Given the description of an element on the screen output the (x, y) to click on. 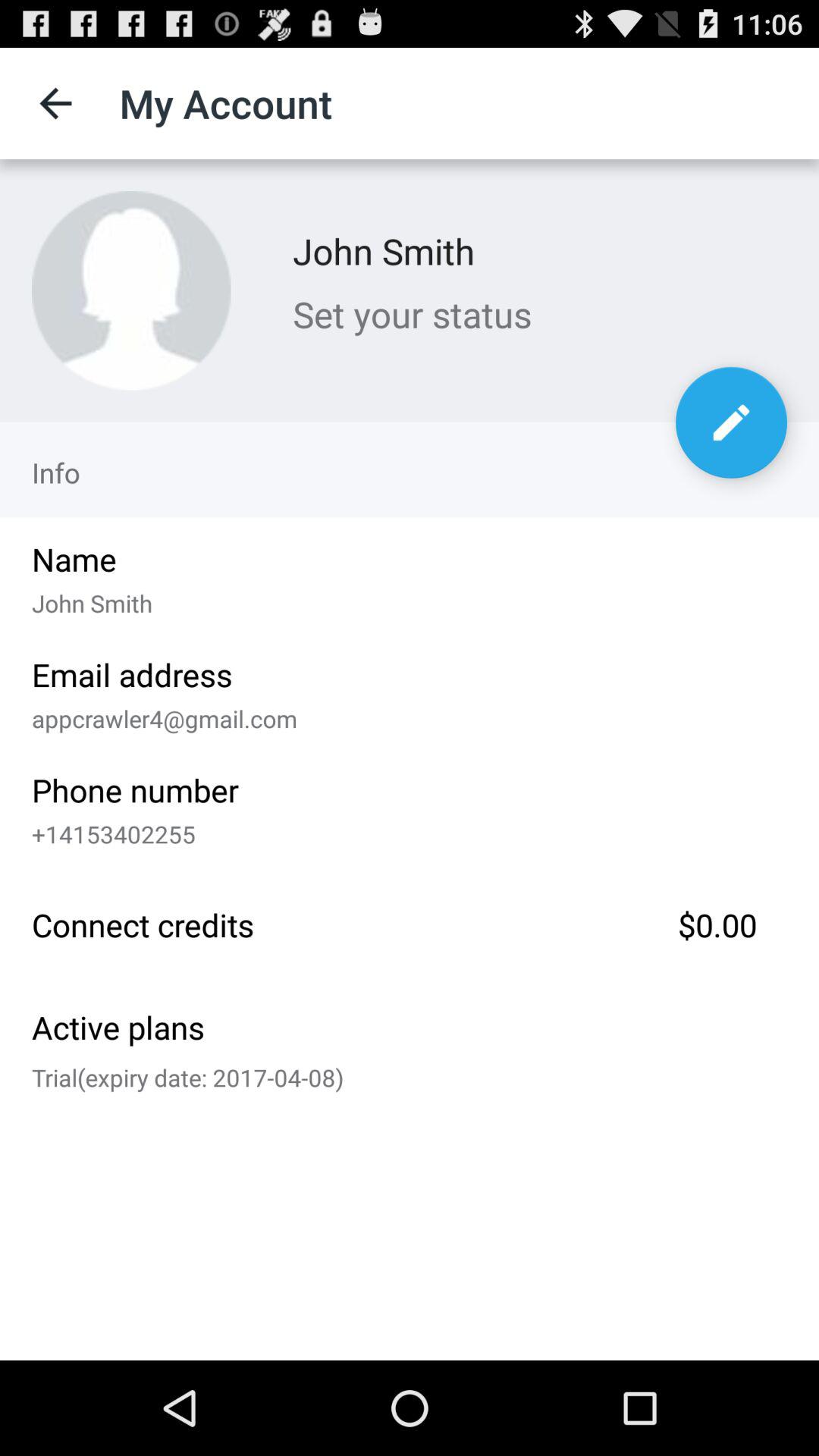
a blue circle with a pencil icon in it indicating a place to write (731, 422)
